Given the description of an element on the screen output the (x, y) to click on. 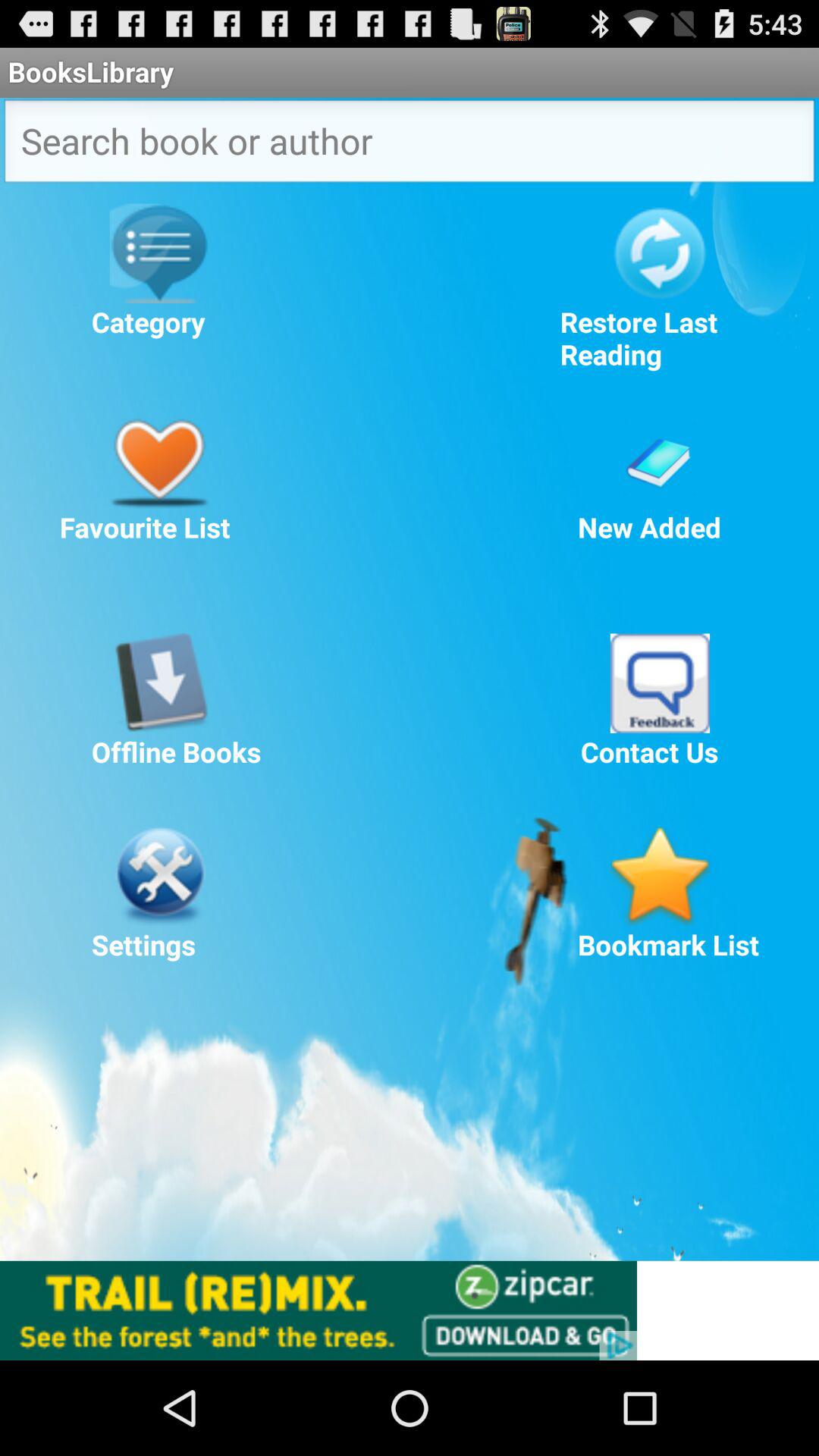
contact us (659, 683)
